Given the description of an element on the screen output the (x, y) to click on. 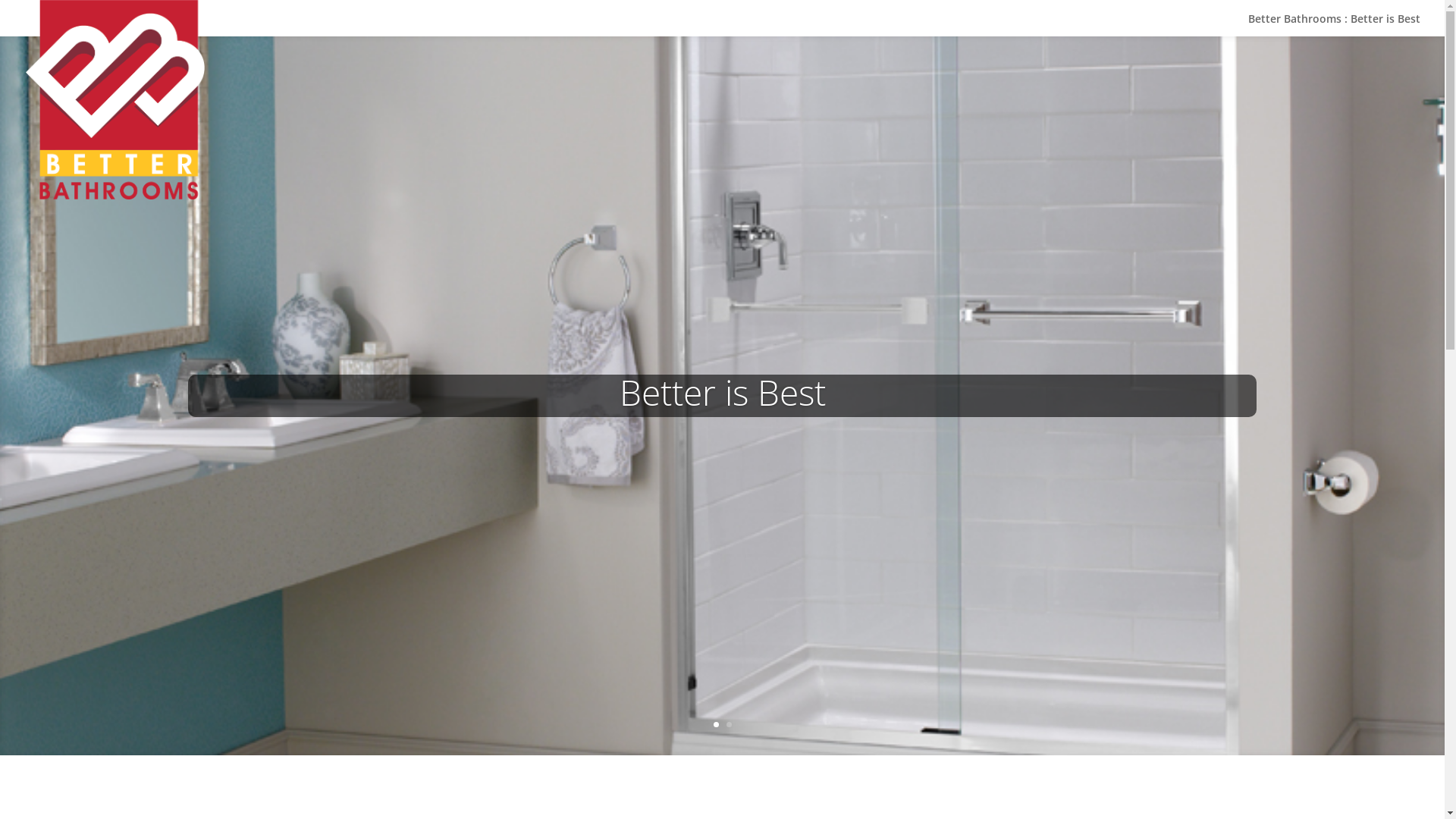
1 Element type: text (715, 724)
2 Element type: text (728, 724)
Better Bathrooms : Better is Best Element type: text (1334, 56)
